Given the description of an element on the screen output the (x, y) to click on. 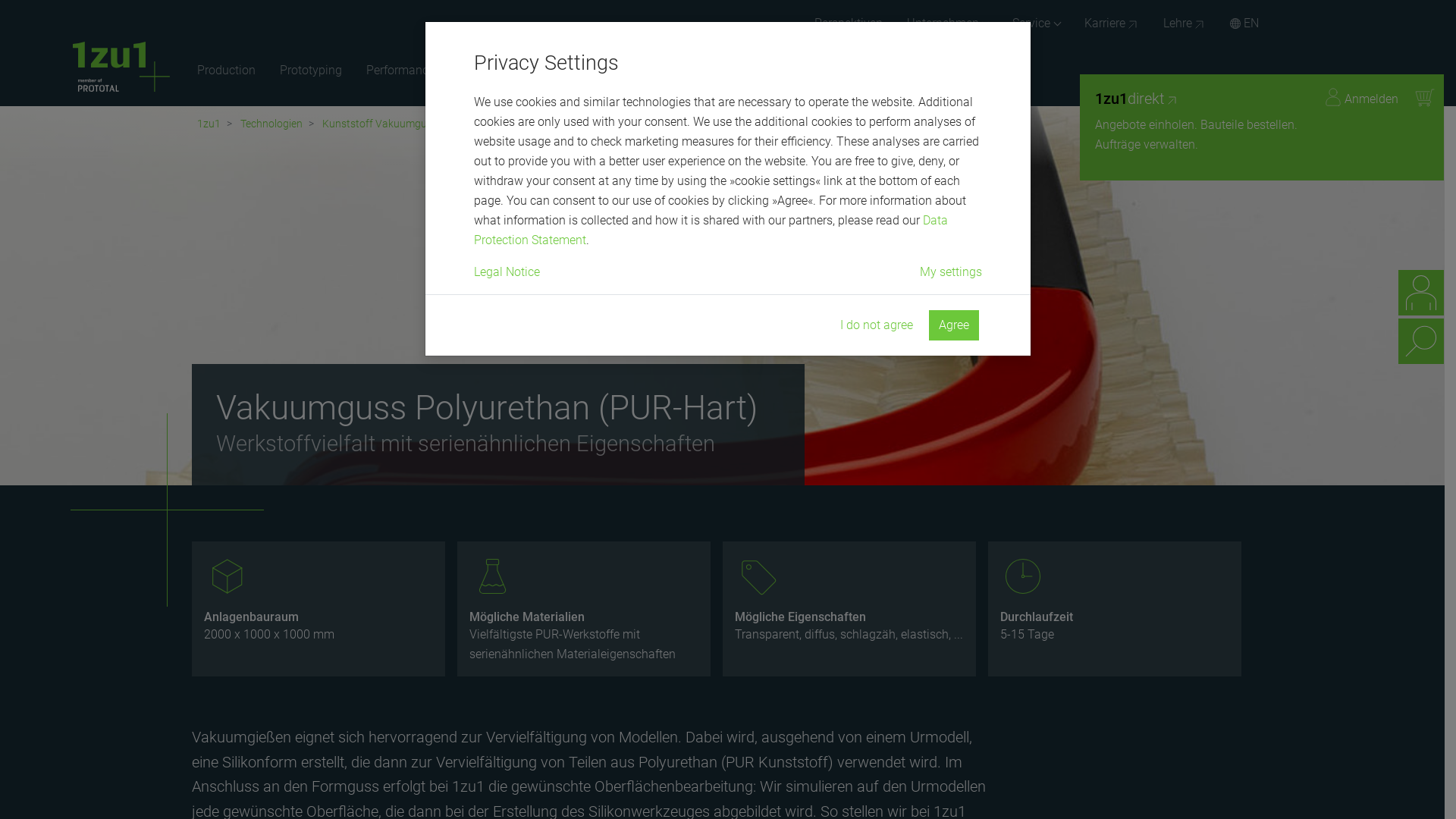
Unternehmen Element type: text (947, 23)
Prototyping Element type: text (310, 70)
Kontakt Element type: text (1420, 292)
Production Element type: text (226, 70)
Legal Notice Element type: text (506, 272)
Technologien Element type: text (584, 70)
Perspektiven Element type: text (848, 23)
Performance Element type: text (400, 70)
1zu1 Element type: text (208, 123)
Lehre Element type: text (1184, 23)
Suche Element type: text (1420, 341)
Data Protection Statement Element type: text (710, 230)
I do not agree Element type: text (876, 325)
Technologien Element type: text (271, 123)
 EN Element type: text (1237, 23)
My settings Element type: text (950, 272)
Branchen Element type: text (488, 70)
Kunststoff Vakuumguss Element type: text (379, 123)
Karriere Element type: text (1111, 23)
Anmelden Element type: text (1359, 97)
Service Element type: text (1036, 23)
1zu1
direkt
  Element type: text (1200, 98)
Agree Element type: text (953, 325)
